Given the description of an element on the screen output the (x, y) to click on. 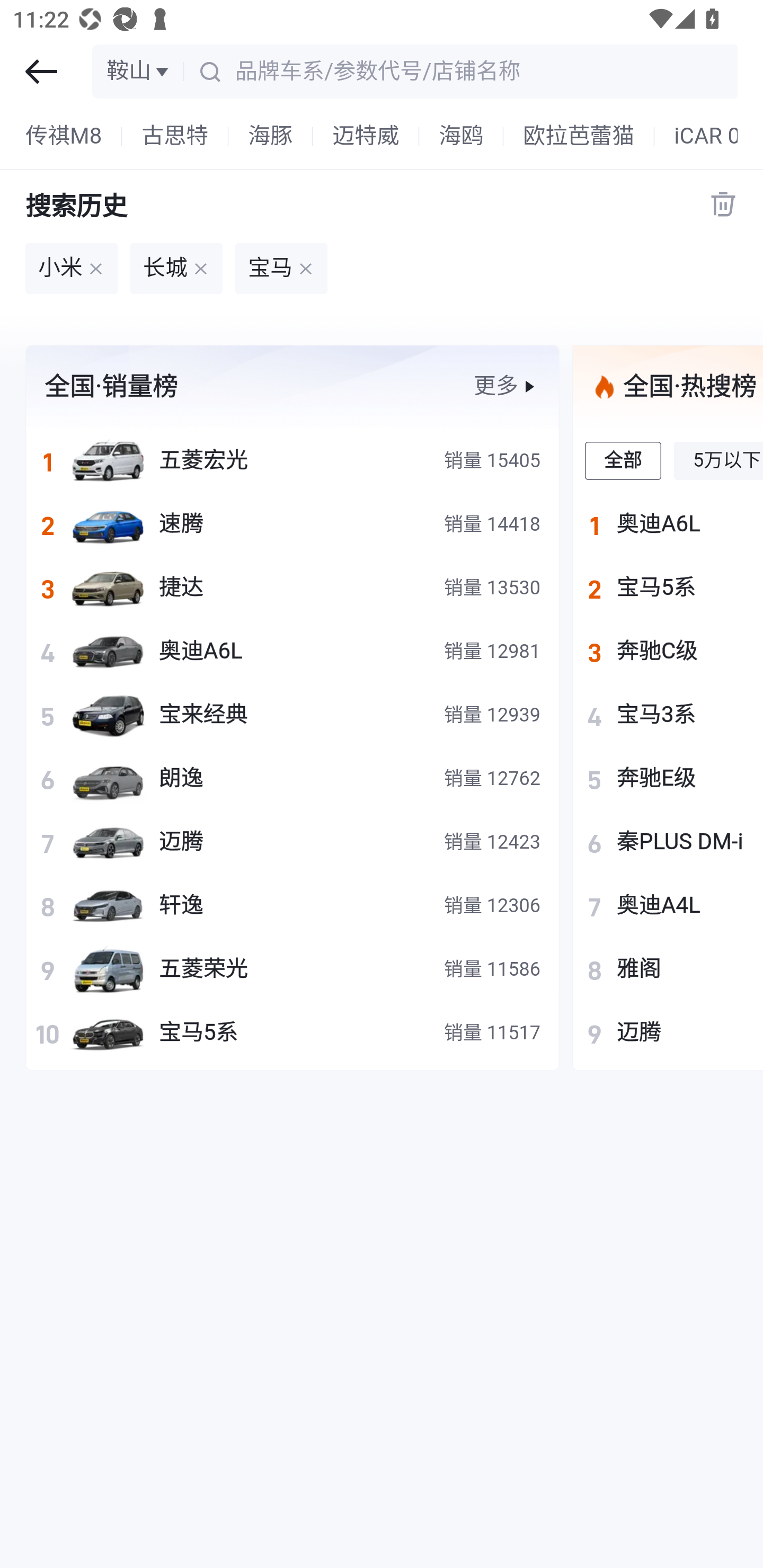
鞍山 (139, 70)
传祺M8 (64, 136)
古思特 (175, 136)
海豚 (270, 136)
迈特威 (365, 136)
海鸥 (461, 136)
欧拉芭蕾猫 (578, 136)
小米 (71, 269)
长城 (176, 269)
宝马 (281, 269)
更多 (506, 386)
1 五菱宏光 销量 15405 (292, 460)
全部 (624, 459)
5万以下 (718, 459)
2 速腾 销量 14418 (292, 523)
1奥迪A6L1.98-54.50万 (667, 523)
3 捷达 销量 13530 (292, 587)
2宝马5系1.80-55.00万 (667, 587)
4 奥迪A6L 销量 12981 (292, 650)
3奔驰C级2.85-33.80万 (667, 650)
5 宝来经典 销量 12939 (292, 714)
4宝马3系1.65-33.58万 (667, 714)
6 朗逸 销量 12762 (292, 777)
5奔驰E级2.67-58.80万 (667, 777)
7 迈腾 销量 12423 (292, 841)
6秦PLUS DM-i5.90-12.98万 (667, 841)
8 轩逸 销量 12306 (292, 904)
7奥迪A4L2.68-32.30万 (667, 904)
9 五菱荣光 销量 11586 (292, 968)
8雅阁1.08-19.80万 (667, 968)
10 宝马5系 销量 11517 (292, 1032)
9迈腾1.18-21.38万 (667, 1032)
